Given the description of an element on the screen output the (x, y) to click on. 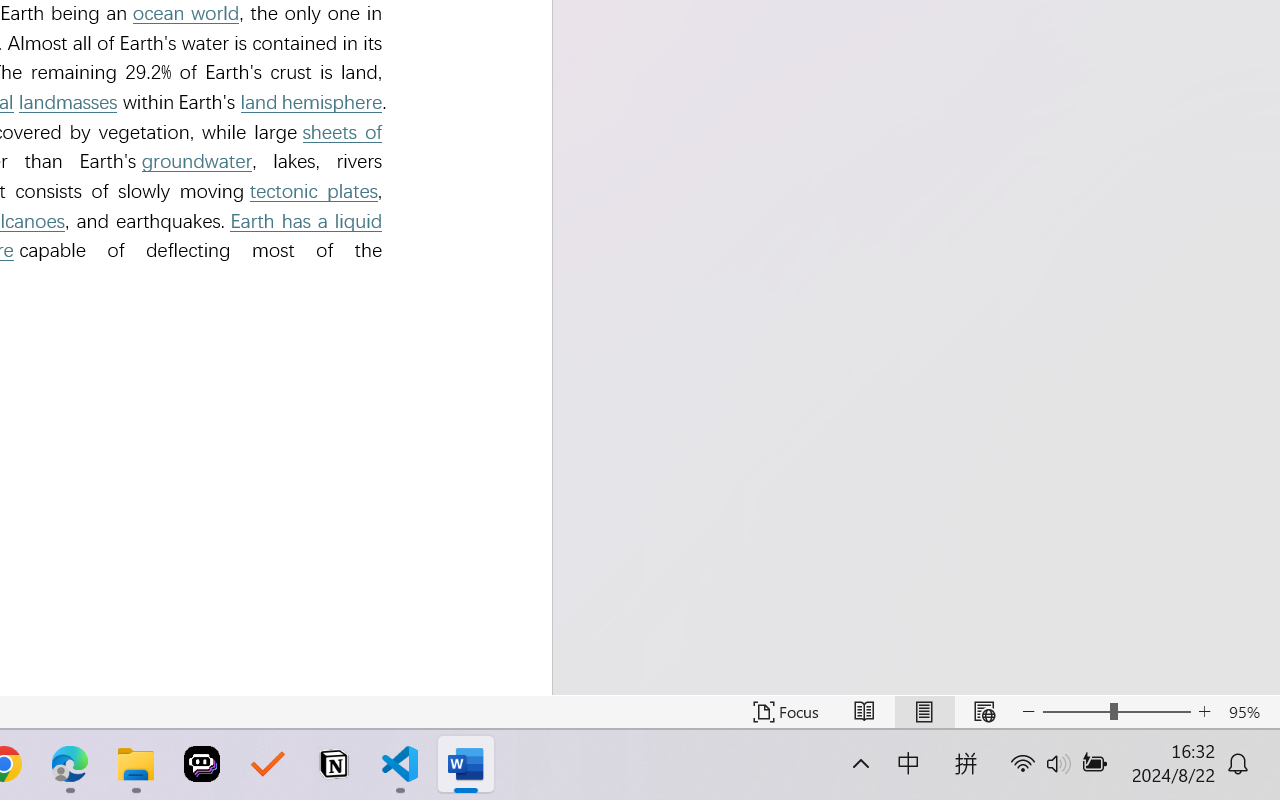
groundwater (197, 161)
ocean world (186, 13)
tectonic plates (313, 190)
Zoom 95% (1249, 712)
land hemisphere (310, 101)
landmasses (67, 101)
